Given the description of an element on the screen output the (x, y) to click on. 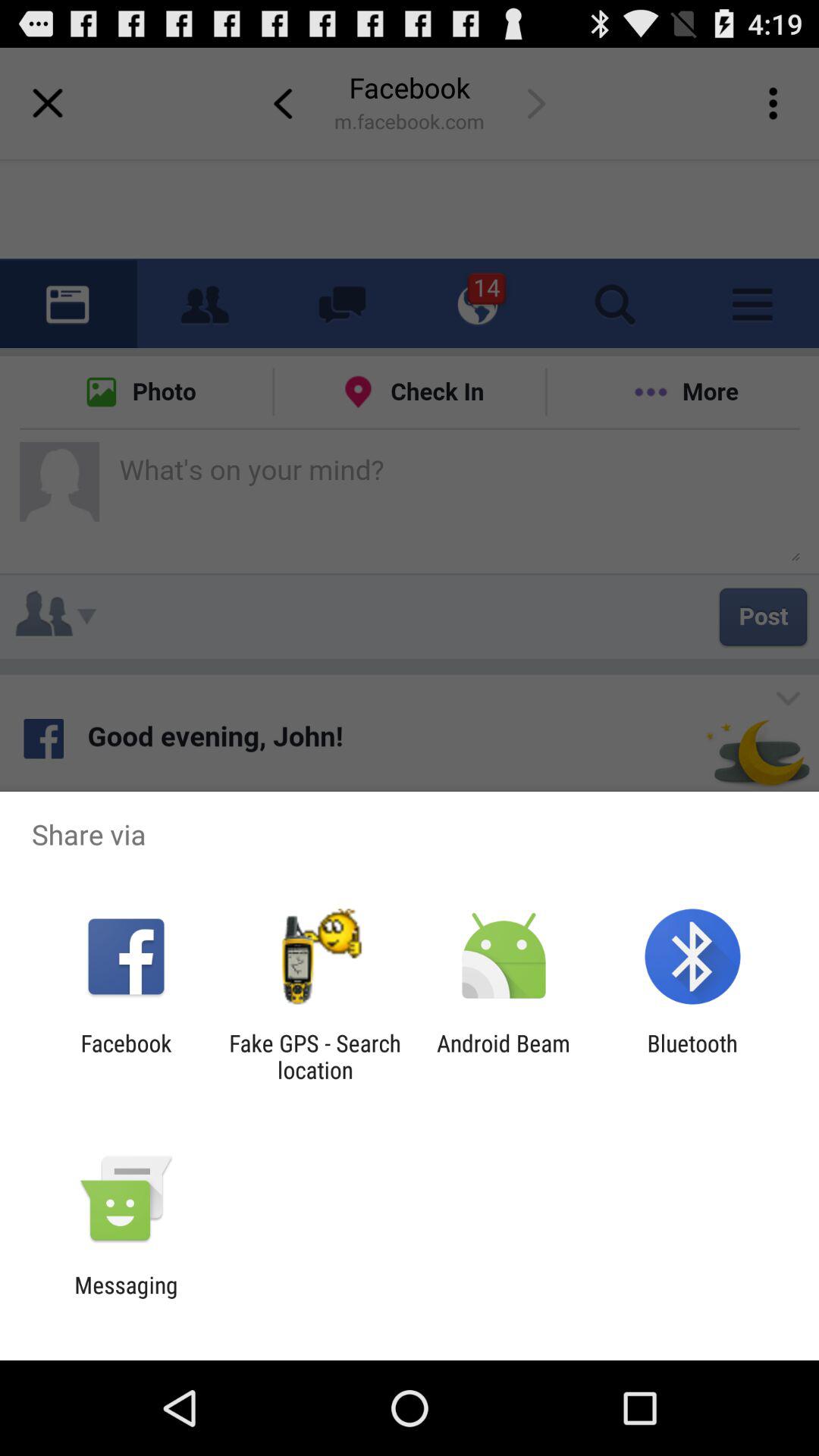
press app next to the fake gps search icon (503, 1056)
